Given the description of an element on the screen output the (x, y) to click on. 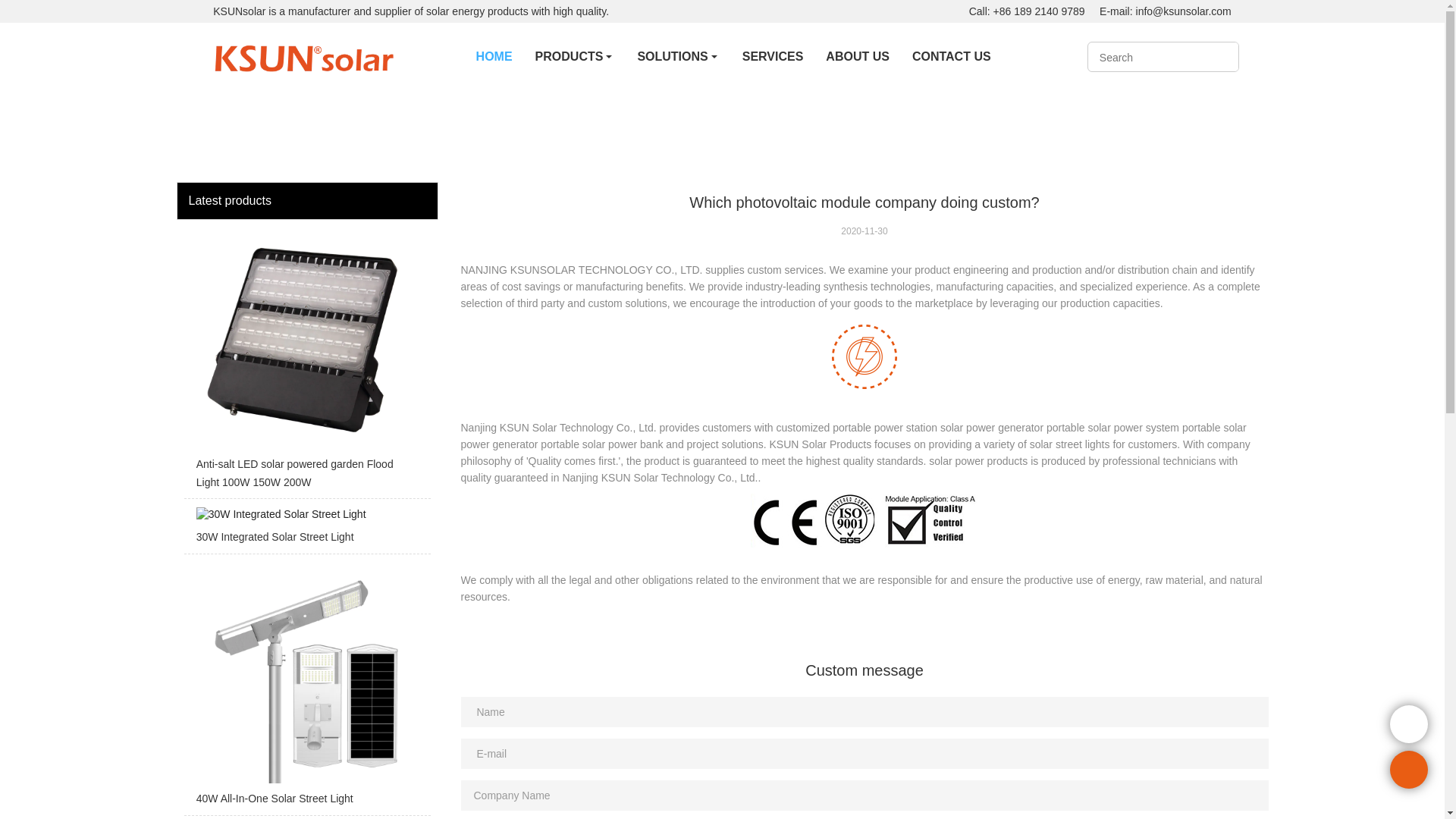
40W All-In-One Solar Street Light (306, 687)
ABOUT US (857, 56)
30W Integrated Solar Street Light (306, 529)
SOLUTIONS (678, 56)
PRODUCTS (575, 56)
SERVICES (772, 56)
CONTACT US (952, 56)
